Given the description of an element on the screen output the (x, y) to click on. 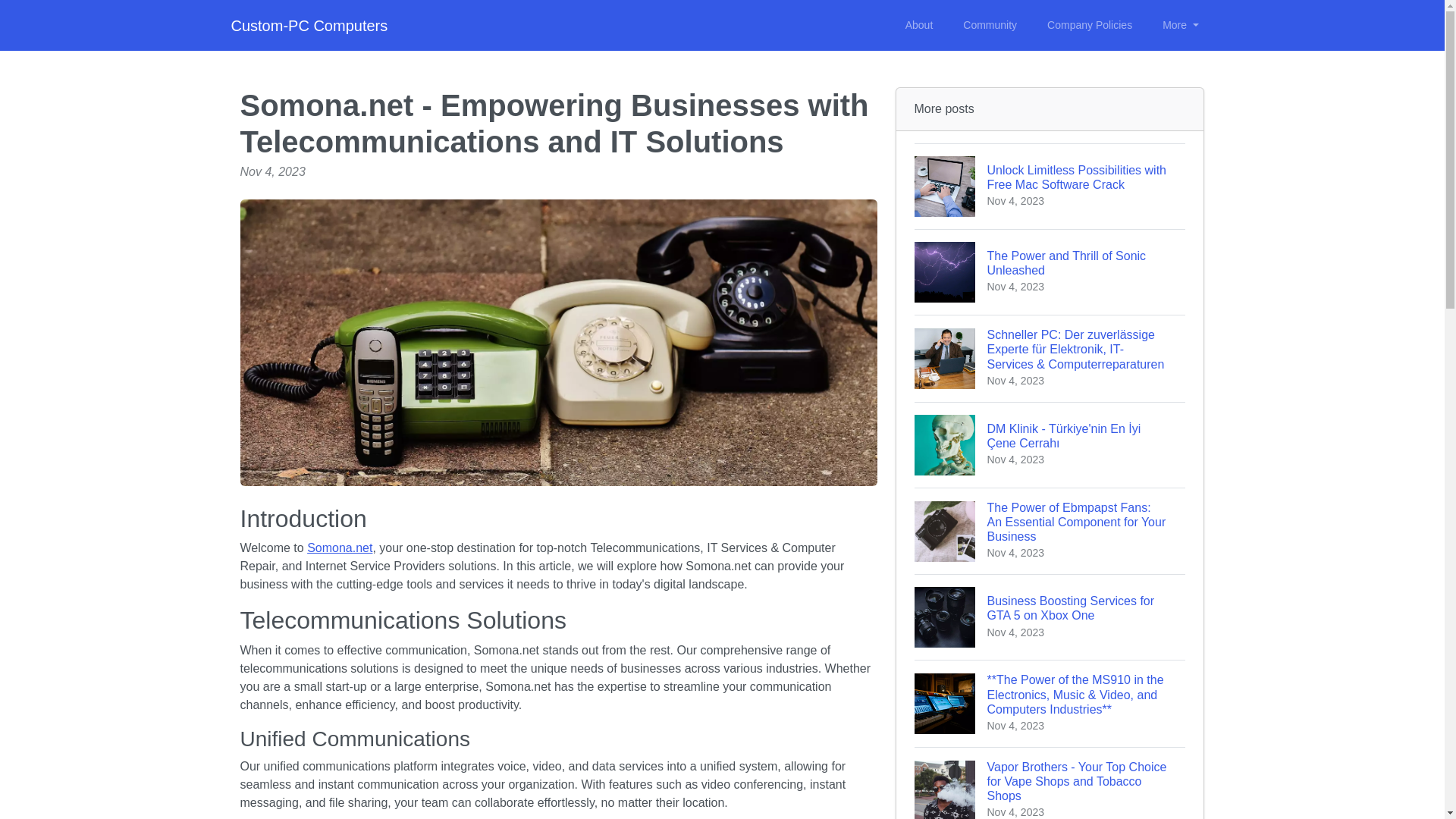
Company Policies (1089, 25)
Custom-PC Computers (308, 25)
More (1180, 25)
Somona.net (339, 547)
Community (989, 25)
About (1050, 617)
